Given the description of an element on the screen output the (x, y) to click on. 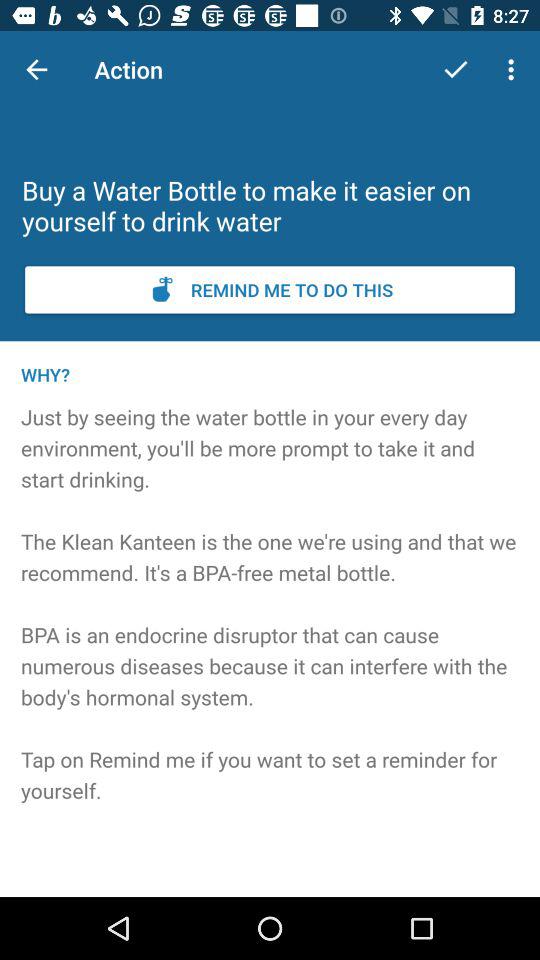
turn on the item to the right of the action item (455, 69)
